Given the description of an element on the screen output the (x, y) to click on. 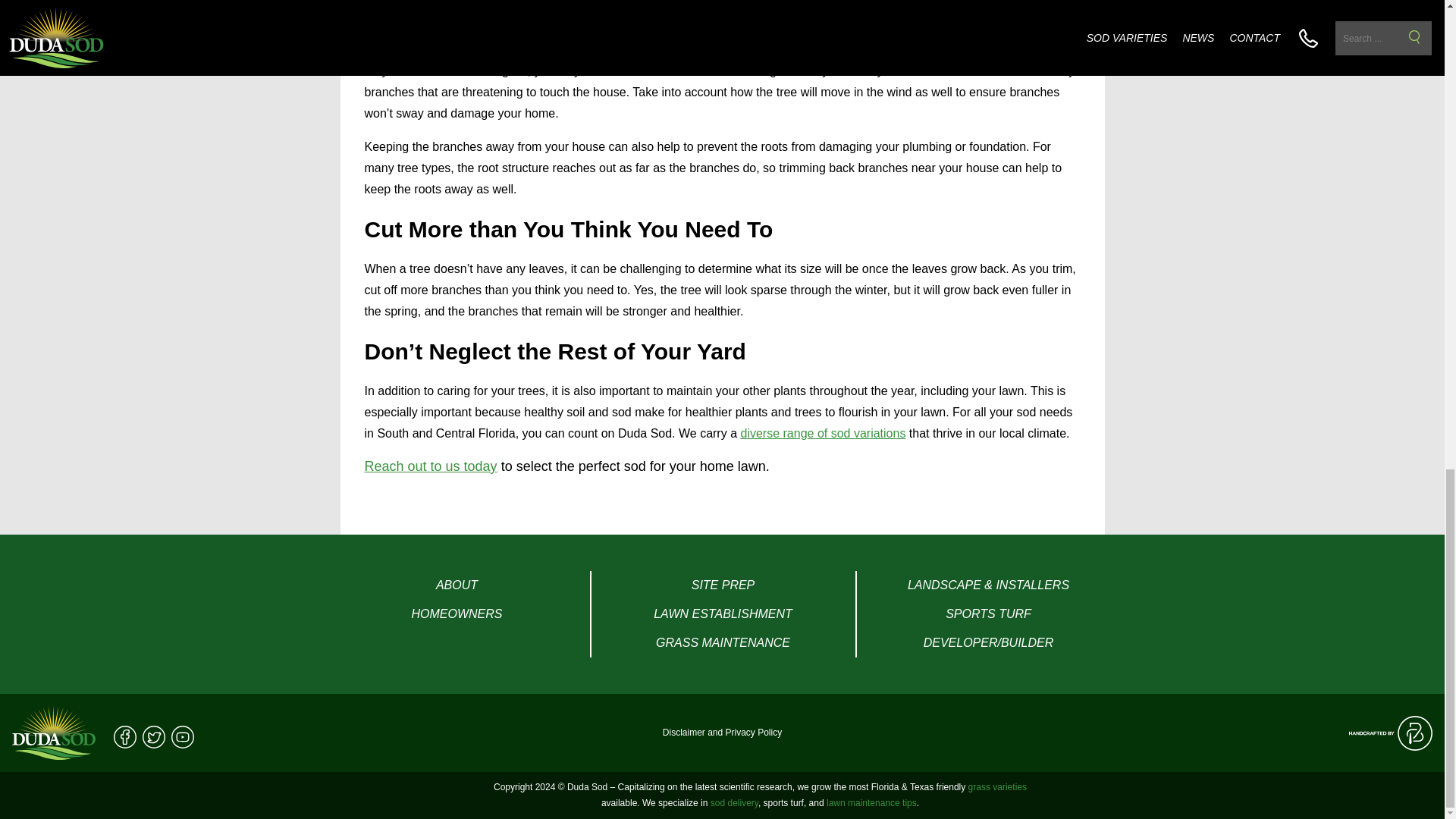
HOMEOWNERS (456, 613)
ABOUT (456, 584)
LAWN ESTABLISHMENT (723, 613)
Reach out to us today (430, 466)
SPORTS TURF (988, 613)
lawn maintenance tips (872, 802)
sod delivery (734, 802)
grass varieties (997, 787)
diverse range of sod variations (822, 432)
GRASS MAINTENANCE (723, 642)
